Given the description of an element on the screen output the (x, y) to click on. 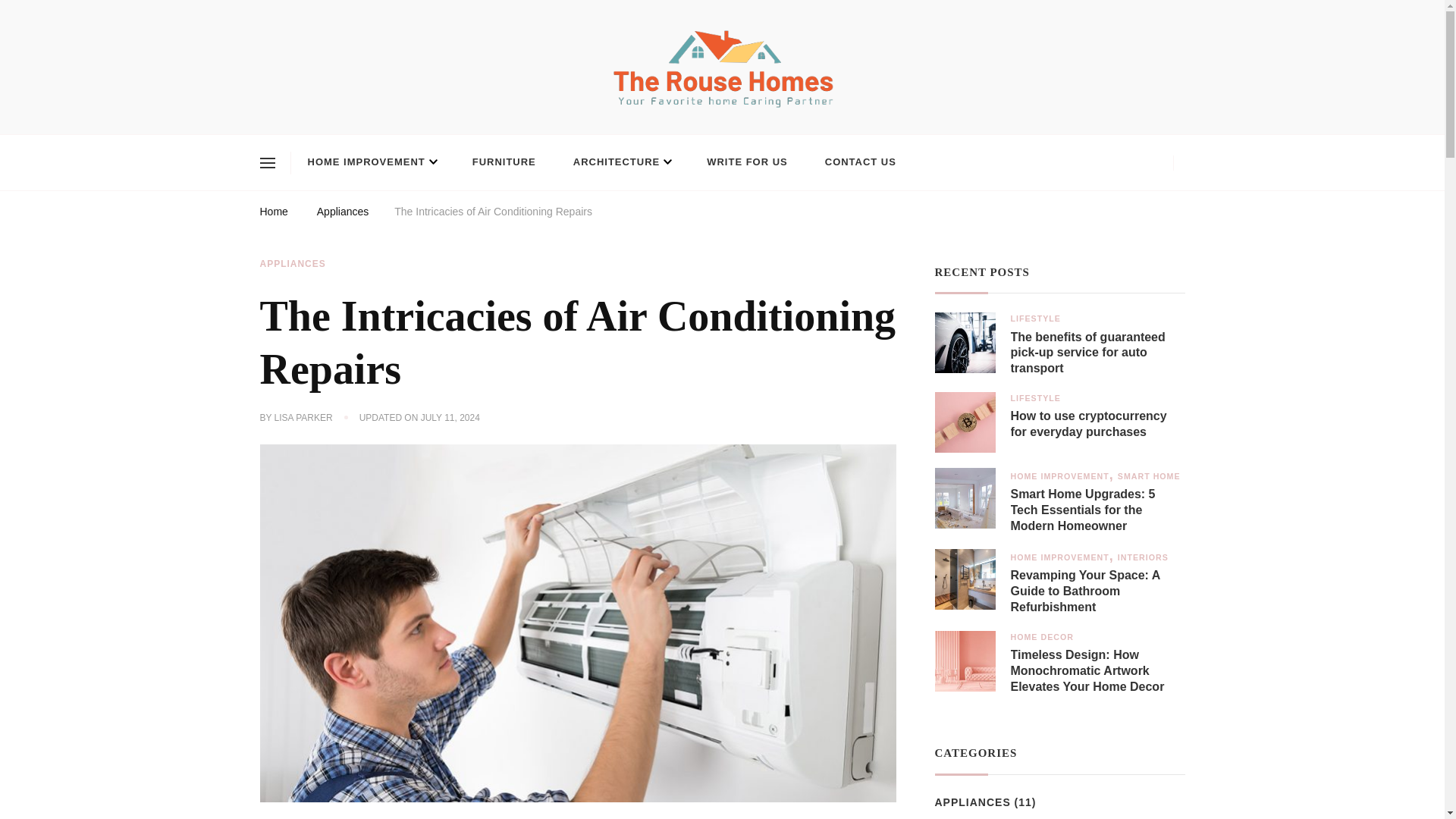
FURNITURE (504, 162)
ARCHITECTURE (620, 162)
Home (272, 213)
CONTACT US (860, 162)
The Intricacies of Air Conditioning Repairs (493, 213)
LISA PARKER (304, 418)
WRITE FOR US (747, 162)
JULY 11, 2024 (450, 418)
HOME IMPROVEMENT (371, 162)
Appliances (343, 213)
TheRouseHomes (341, 125)
APPLIANCES (291, 264)
